Given the description of an element on the screen output the (x, y) to click on. 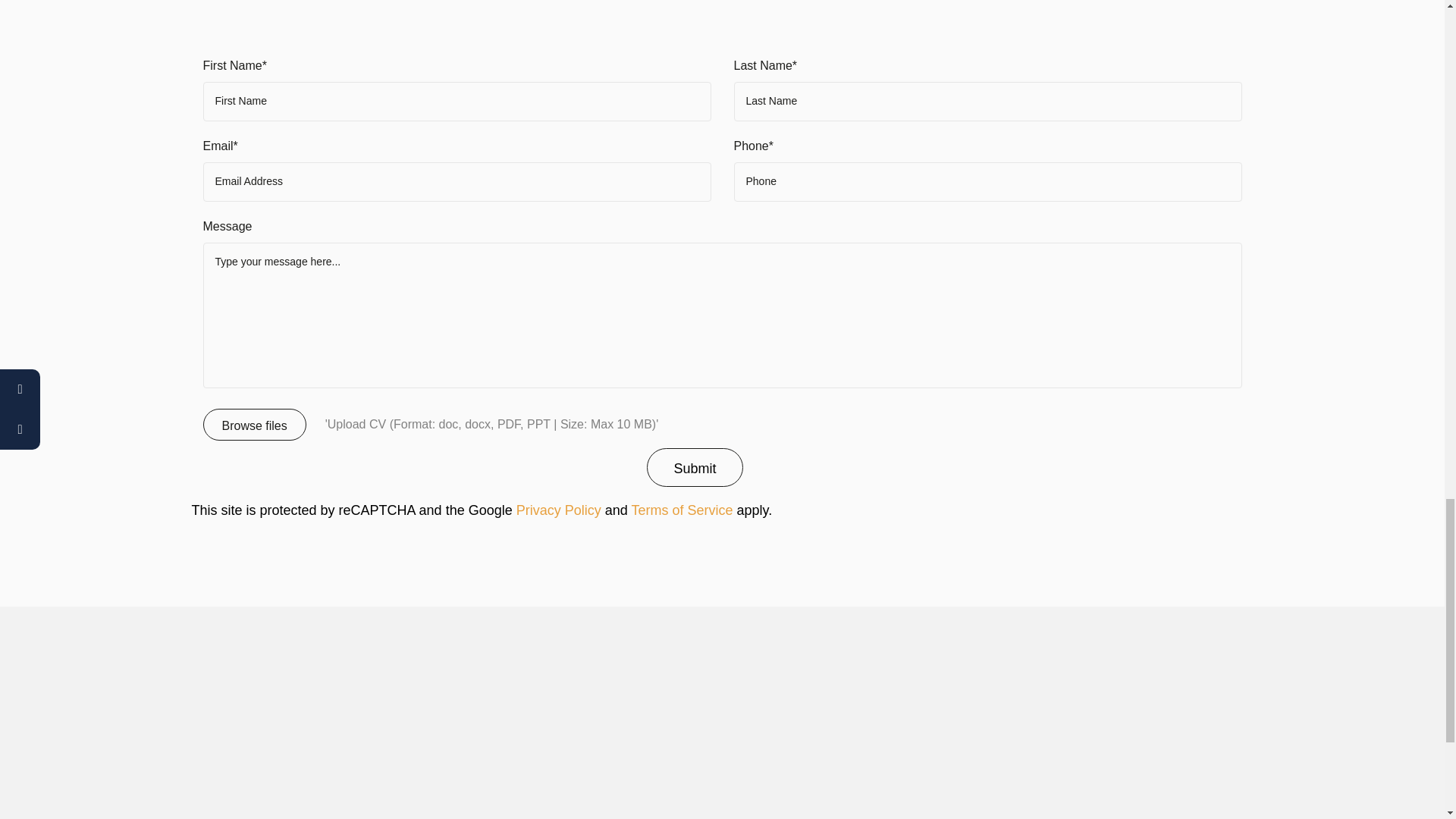
Submit (694, 466)
